Given the description of an element on the screen output the (x, y) to click on. 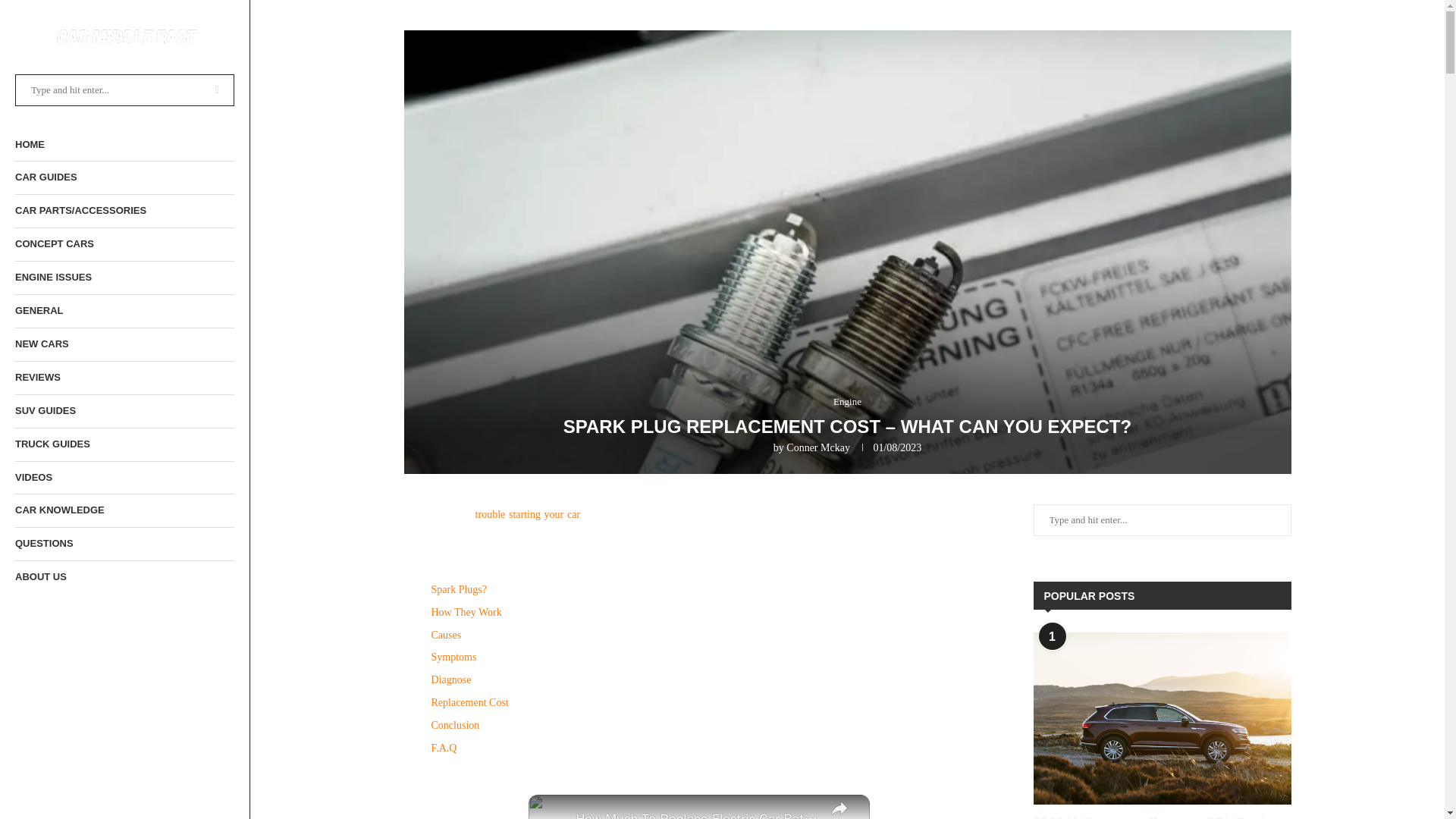
Engine (846, 401)
Causes  (446, 634)
TRUCK GUIDES (124, 444)
SUV GUIDES (124, 410)
share (839, 806)
GENERAL (124, 310)
How Much To Replace Electric Car Battery (696, 813)
ABOUT US (124, 577)
HOME (124, 144)
REVIEWS (124, 377)
